Given the description of an element on the screen output the (x, y) to click on. 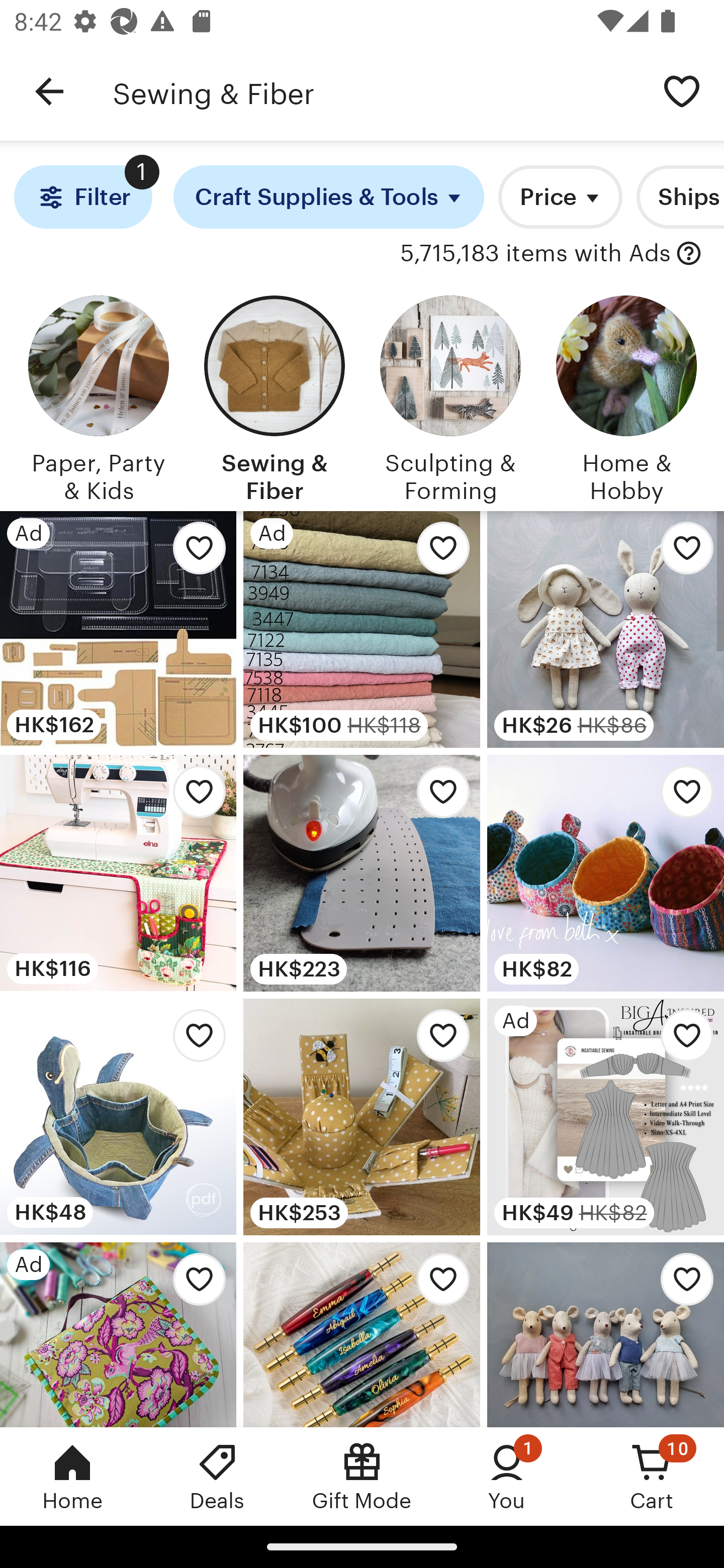
Navigate up (49, 91)
Save search (681, 90)
Sewing & Fiber (375, 91)
Filter (82, 197)
Craft Supplies & Tools (328, 197)
Price (560, 197)
5,715,183 items with Ads (535, 253)
with Ads (688, 253)
Paper, Party & Kids (97, 395)
Sewing & Fiber (273, 395)
Sculpting & Forming (449, 395)
Home & Hobby (625, 395)
Add Sewing Space Station PDF pattern to favorites (194, 796)
Add Jenerates Silicone Hemmer to favorites (438, 796)
Add Bubble Pods Sewing Pattern to favorites (681, 796)
Deals (216, 1475)
Gift Mode (361, 1475)
You, 1 new notification You (506, 1475)
Cart, 10 new notifications Cart (651, 1475)
